Given the description of an element on the screen output the (x, y) to click on. 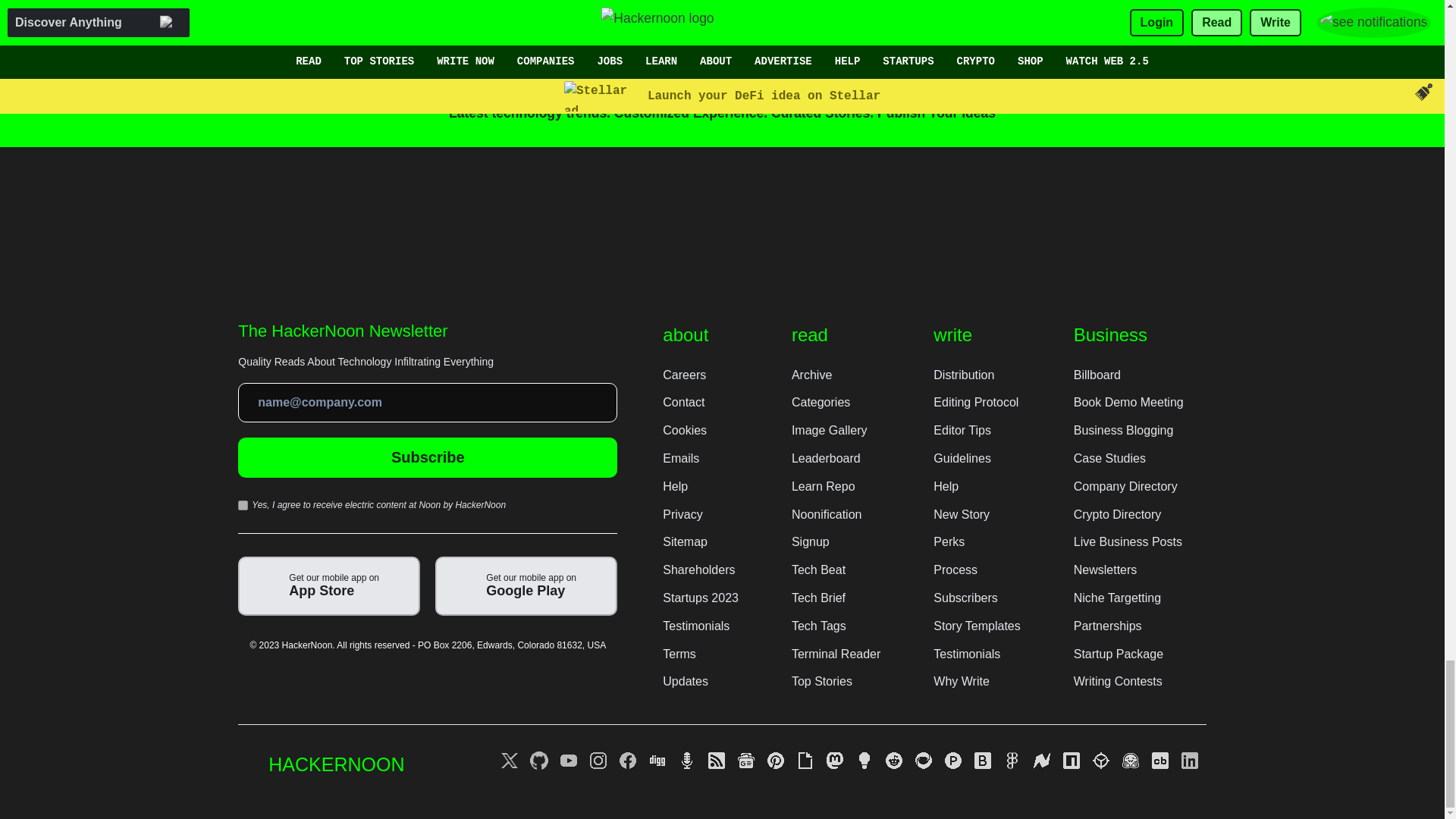
on (242, 505)
